Given the description of an element on the screen output the (x, y) to click on. 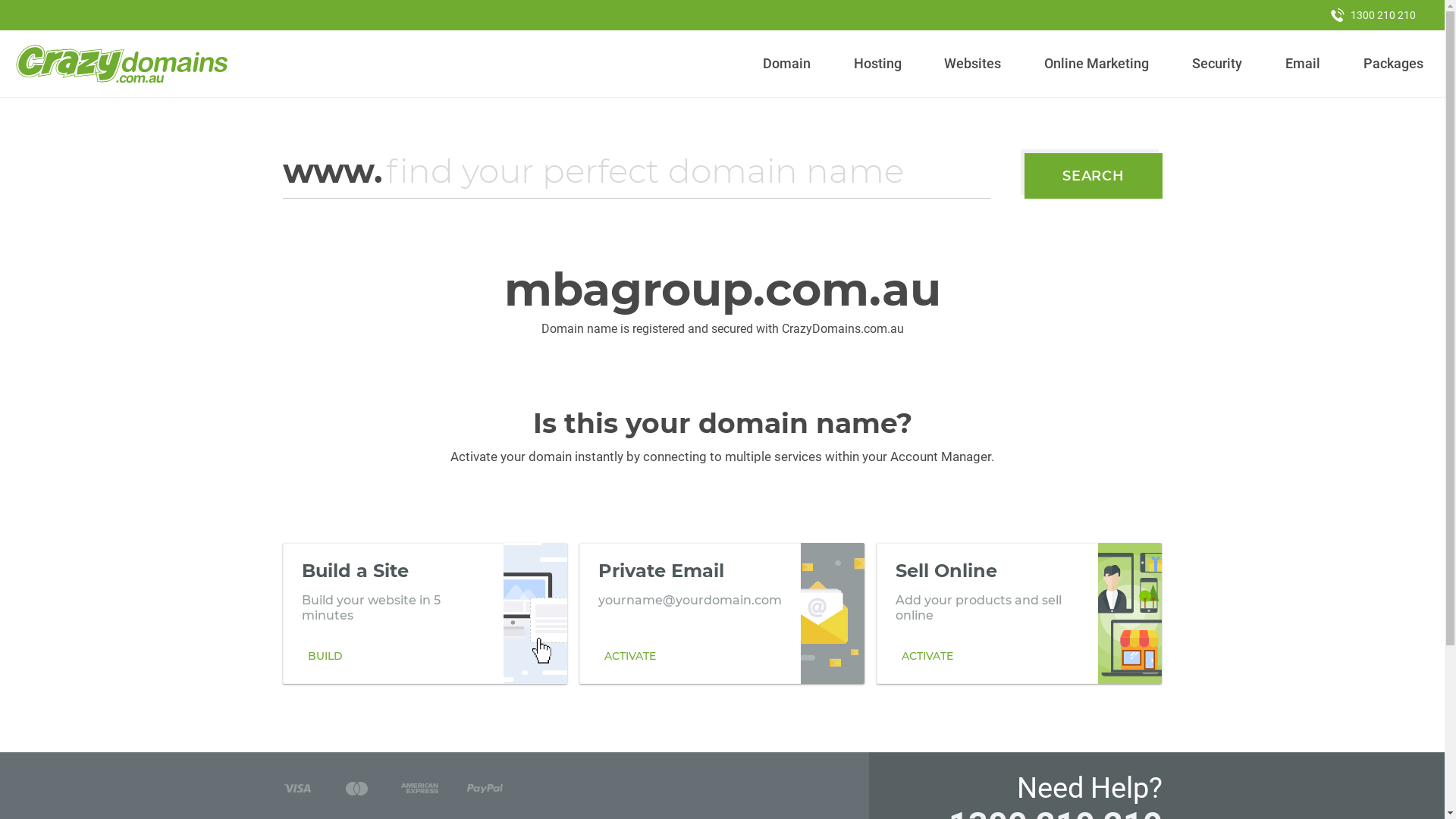
Email Element type: text (1302, 63)
Sell Online
Add your products and sell online
ACTIVATE Element type: text (1018, 613)
Private Email
yourname@yourdomain.com
ACTIVATE Element type: text (721, 613)
Websites Element type: text (972, 63)
Domain Element type: text (786, 63)
SEARCH Element type: text (1092, 175)
Packages Element type: text (1392, 63)
Security Element type: text (1217, 63)
1300 210 210 Element type: text (1373, 15)
Hosting Element type: text (877, 63)
Build a Site
Build your website in 5 minutes
BUILD Element type: text (424, 613)
Online Marketing Element type: text (1096, 63)
